Given the description of an element on the screen output the (x, y) to click on. 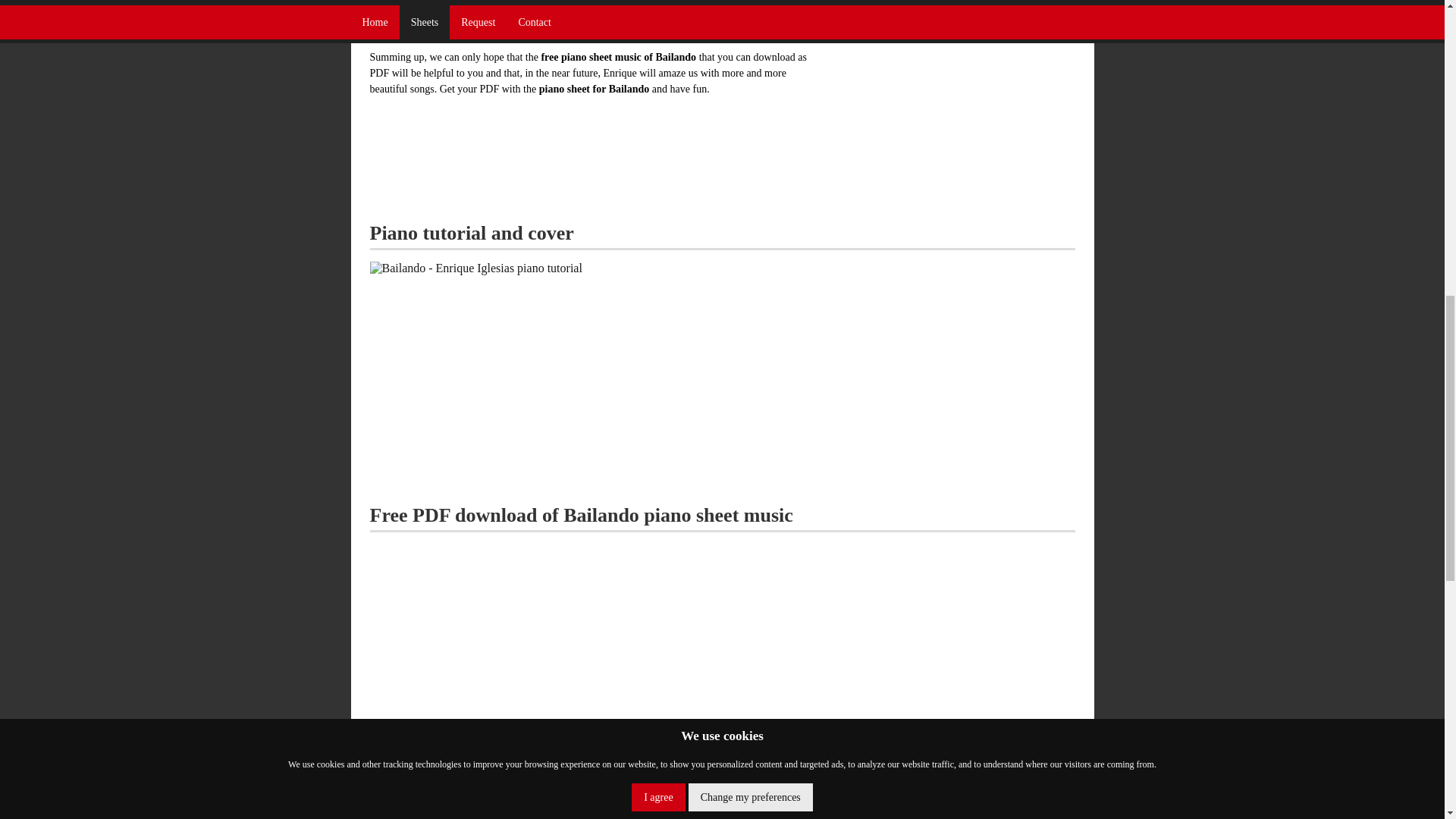
The Power Of Love - Celine Dion (945, 18)
The Power Of Love - Celine Dion (890, 17)
Bailando - Enrique Iglesias piano tutorial (475, 268)
